Given the description of an element on the screen output the (x, y) to click on. 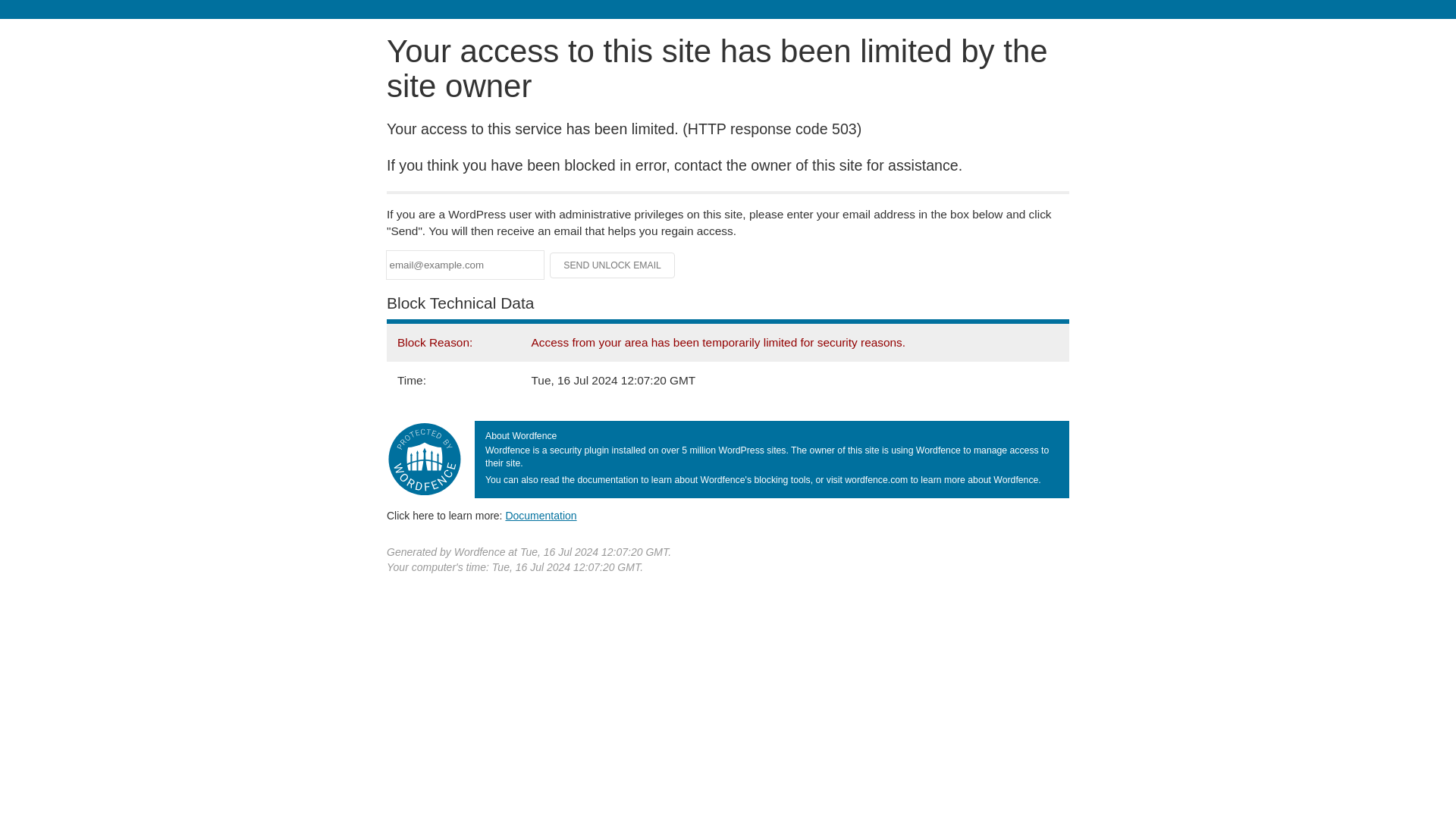
Documentation (540, 515)
Send Unlock Email (612, 265)
Send Unlock Email (612, 265)
